Given the description of an element on the screen output the (x, y) to click on. 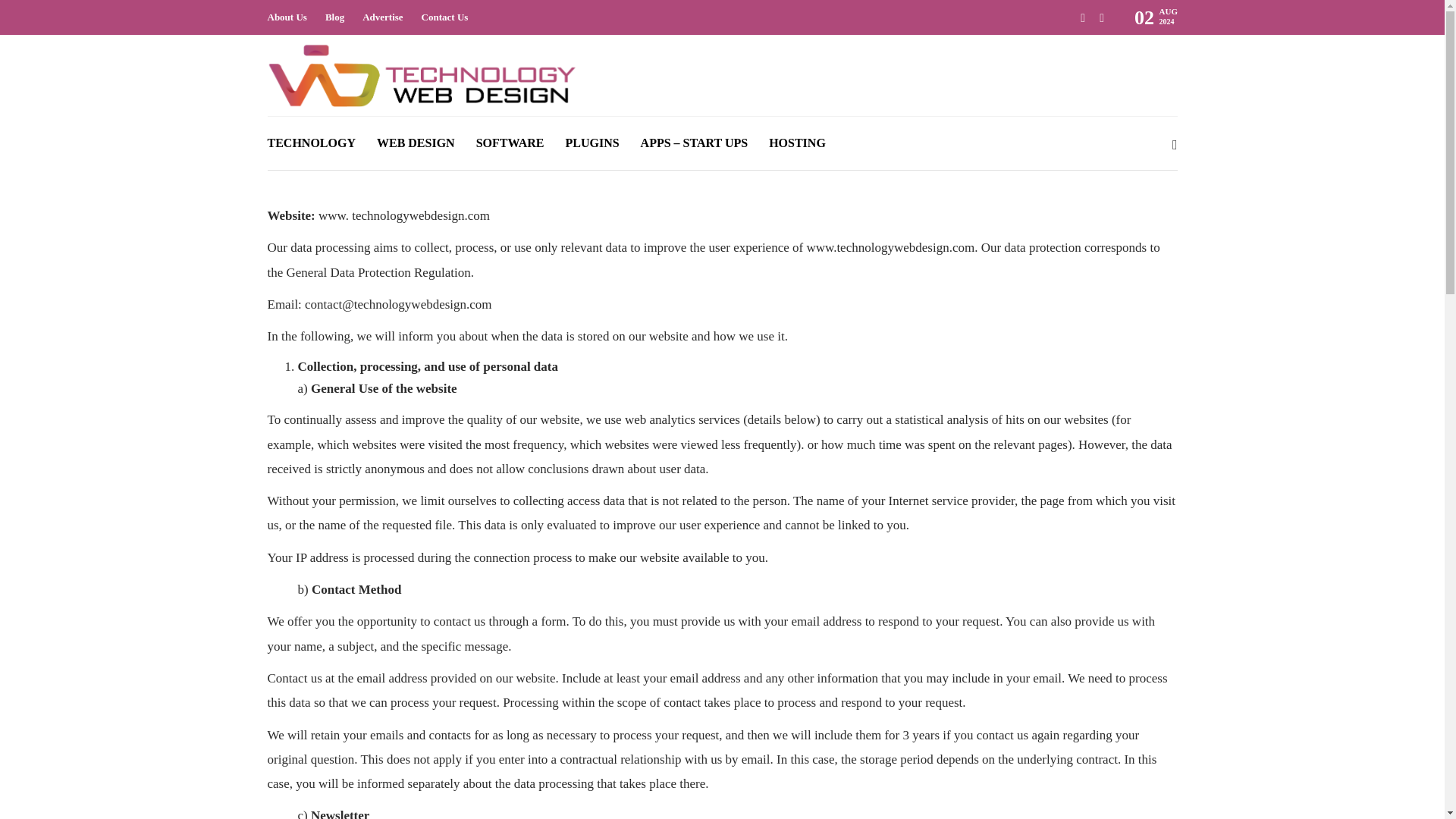
Advertise (382, 17)
About Us (285, 17)
SOFTWARE (510, 143)
HOSTING (796, 143)
Contact Us (445, 17)
WEB DESIGN (415, 143)
PLUGINS (591, 143)
www. technologywebdesign.com (403, 215)
TECHNOLOGY (310, 143)
